Given the description of an element on the screen output the (x, y) to click on. 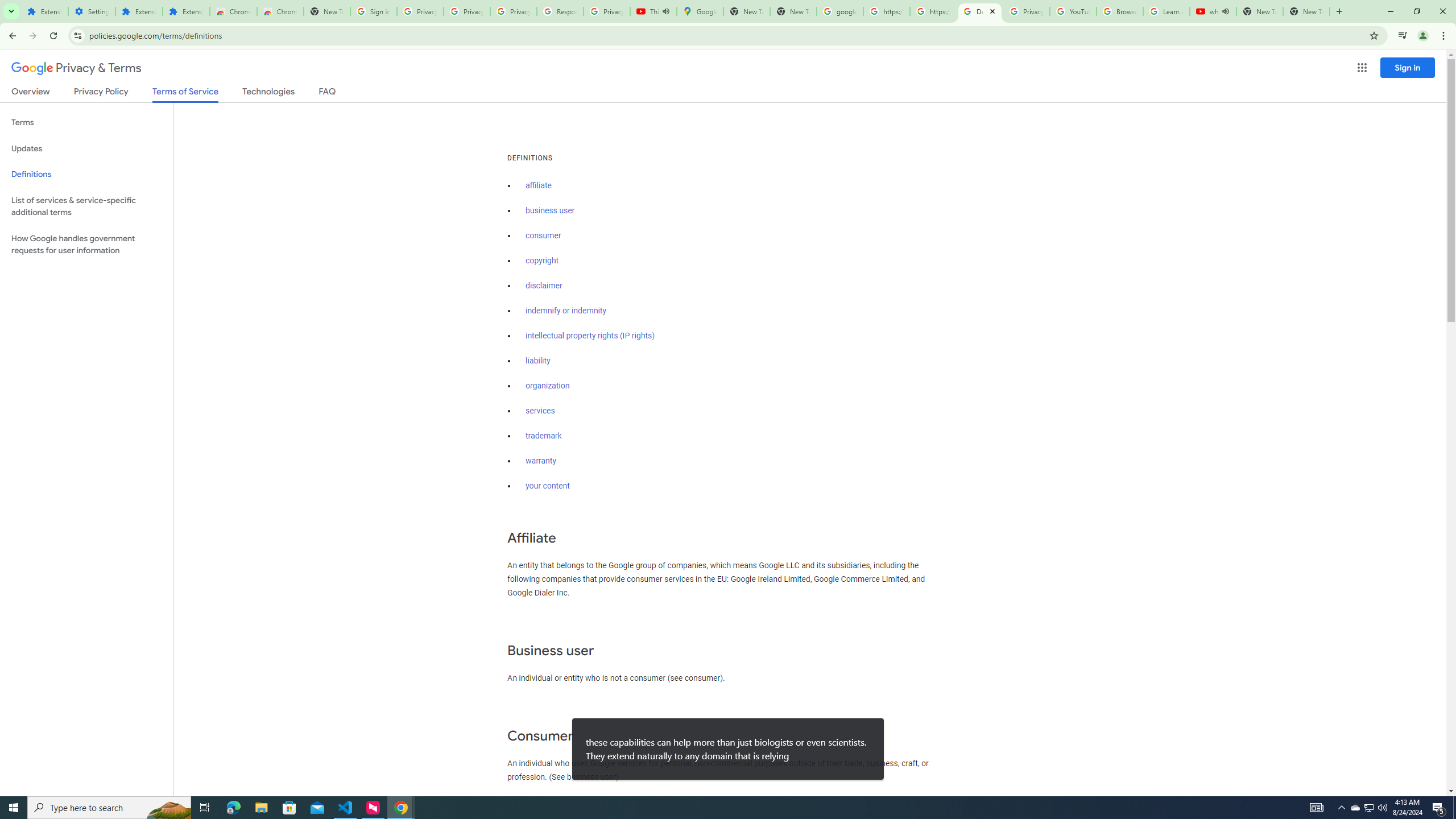
Chrome Web Store - Themes (279, 11)
Settings (91, 11)
intellectual property rights (IP rights) (590, 335)
